Given the description of an element on the screen output the (x, y) to click on. 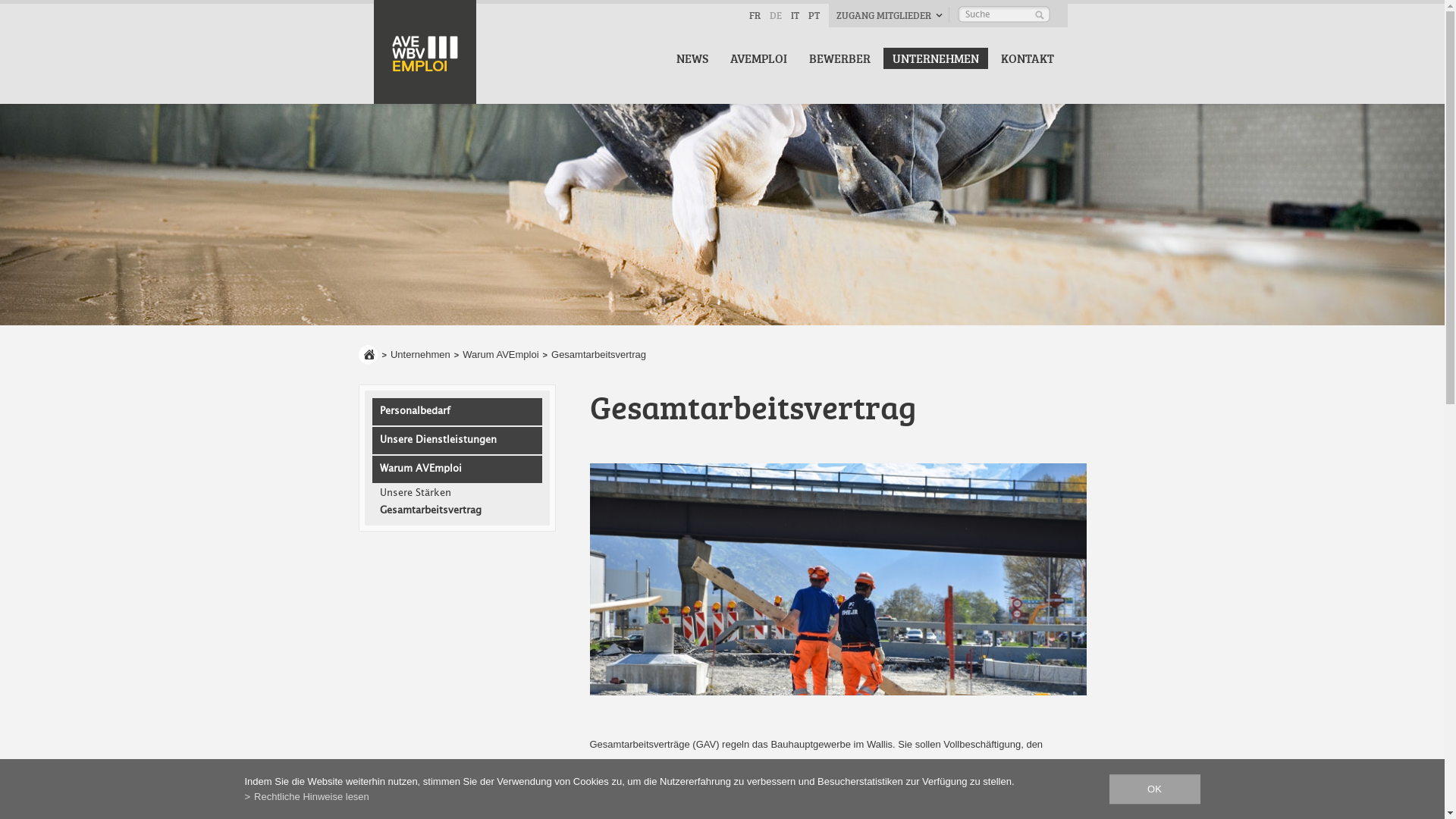
ZUGANG MITGLIEDER Element type: text (888, 14)
Personalbedarf Element type: text (460, 411)
Unsere Dienstleistungen Element type: text (460, 440)
OK Element type: text (1153, 789)
UNTERNEHMEN Element type: text (934, 58)
PT Element type: text (813, 14)
Unternehmen Element type: text (420, 354)
Rechtliche Hinweise lesen Element type: text (306, 795)
NEWS Element type: text (692, 58)
Gesamtarbeitsvertrag Element type: text (460, 510)
IT Element type: text (794, 14)
AVEMPLOI Element type: text (757, 58)
Warum AVEmploi Element type: text (500, 354)
Warum AVEmploi Element type: text (460, 469)
BEWERBER Element type: text (838, 58)
FR Element type: text (754, 14)
DE Element type: text (774, 14)
KONTAKT Element type: text (1027, 58)
